Given the description of an element on the screen output the (x, y) to click on. 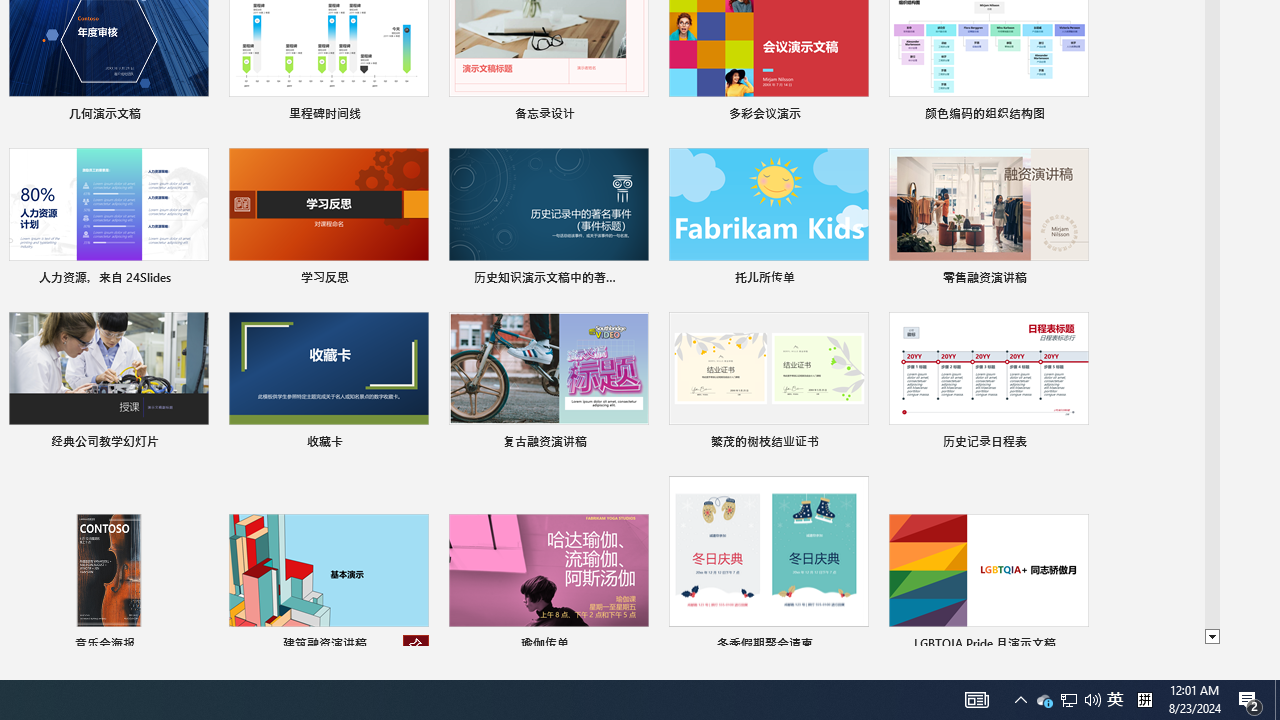
Pin to list (1075, 645)
Unpin from list (415, 645)
